Given the description of an element on the screen output the (x, y) to click on. 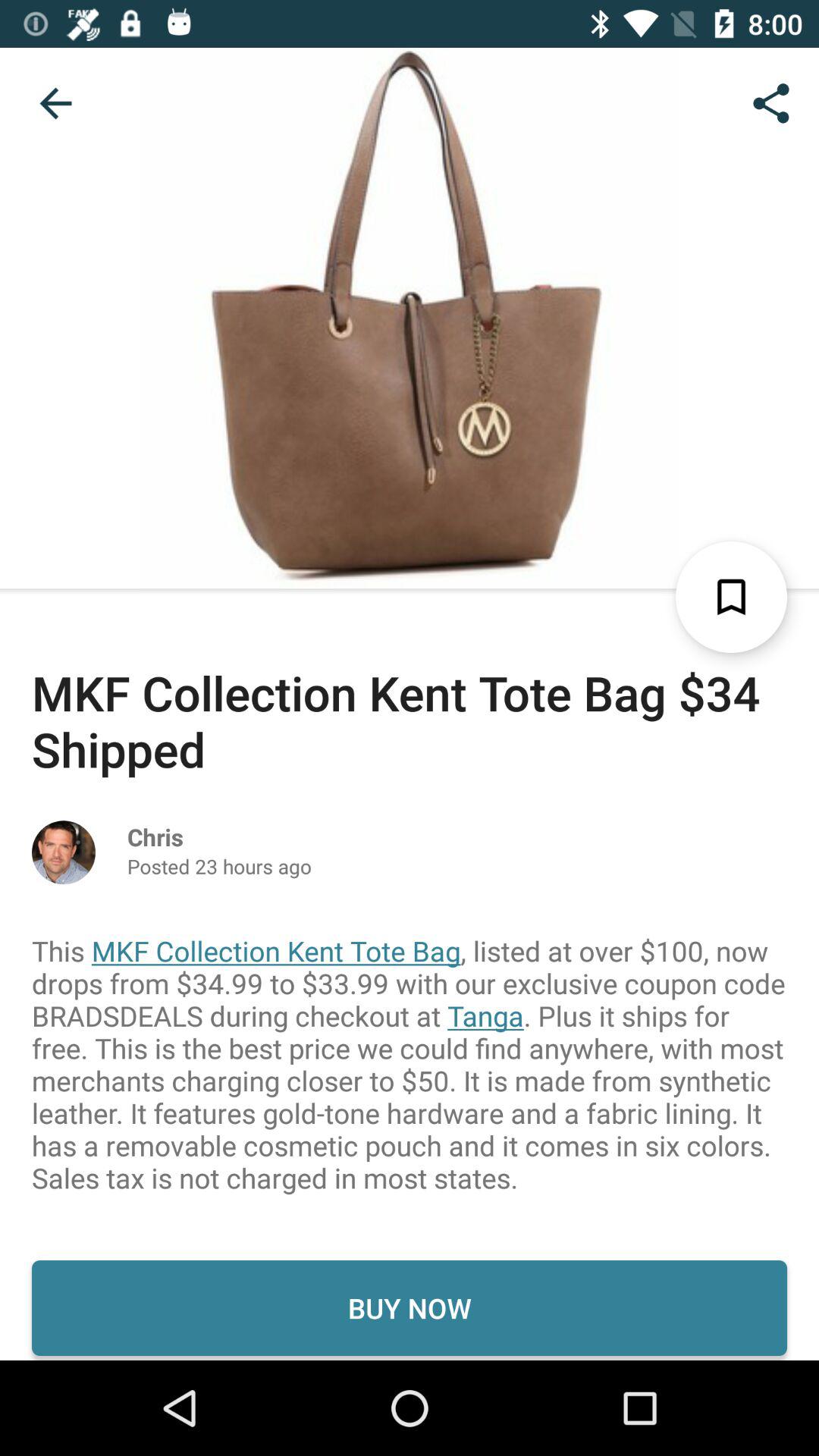
scroll to the buy now (409, 1307)
